Given the description of an element on the screen output the (x, y) to click on. 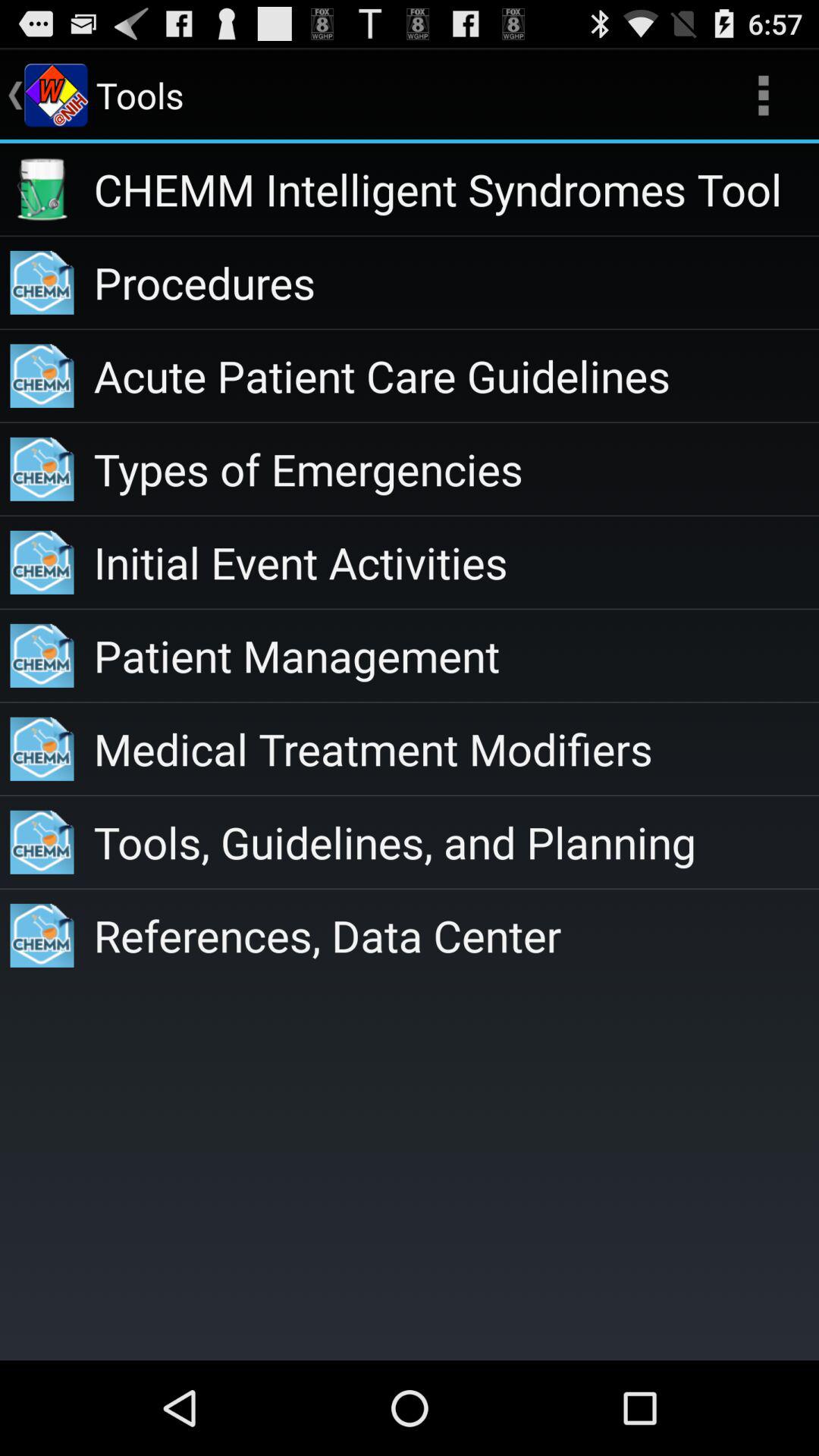
choose the item above tools guidelines and icon (456, 748)
